Given the description of an element on the screen output the (x, y) to click on. 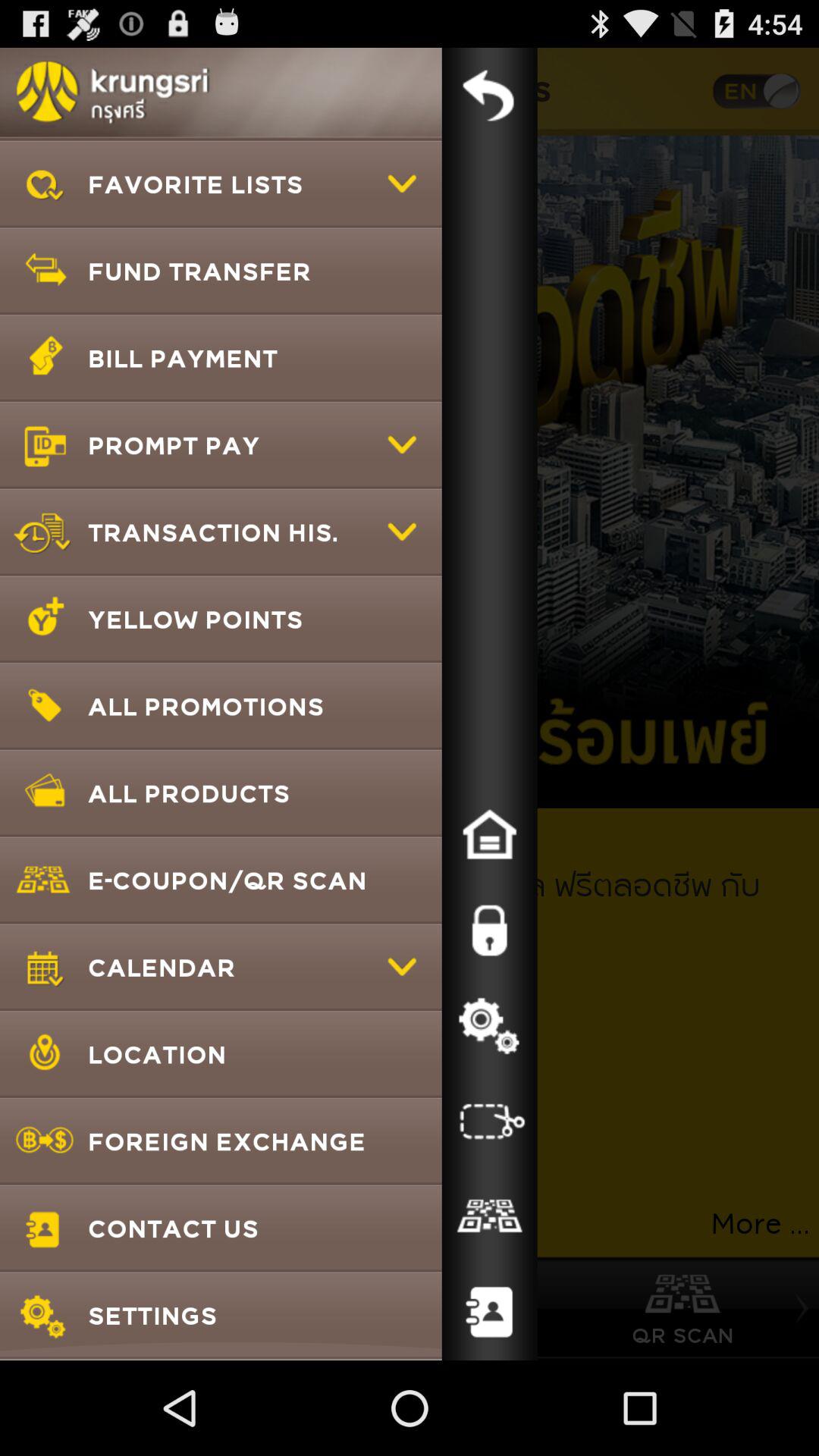
close menu (489, 95)
